Given the description of an element on the screen output the (x, y) to click on. 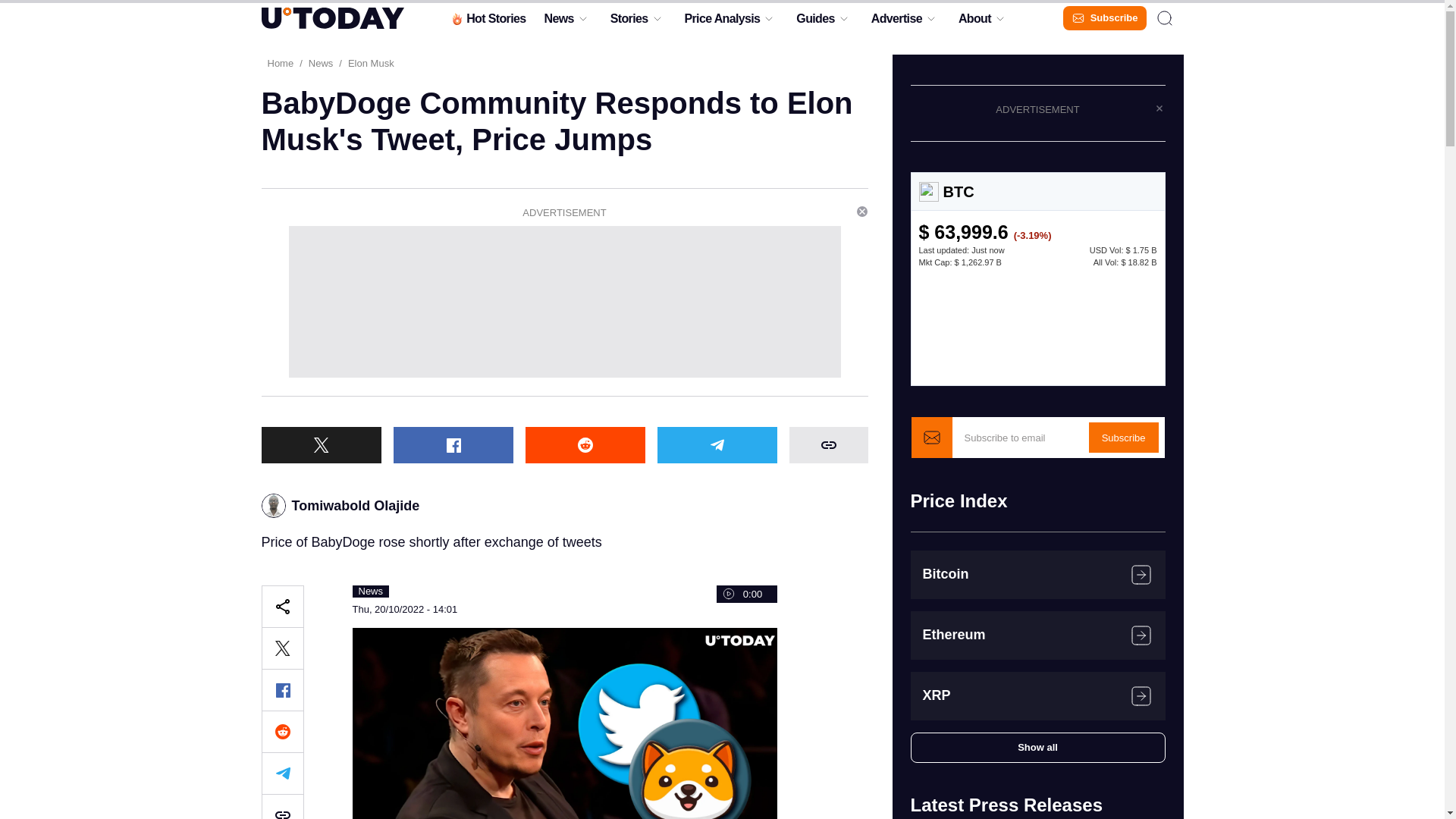
Share to Reddit (584, 444)
Share to X (281, 648)
News (558, 22)
Share to Facebook (452, 444)
Advertisement (564, 301)
Share to X (320, 444)
Stories (628, 22)
Share to Telegram (716, 444)
Hot Stories (486, 22)
Share to Telegram (281, 773)
Share to Facebook (281, 690)
U.Today logo (331, 17)
Share to Reddit (281, 731)
